Given the description of an element on the screen output the (x, y) to click on. 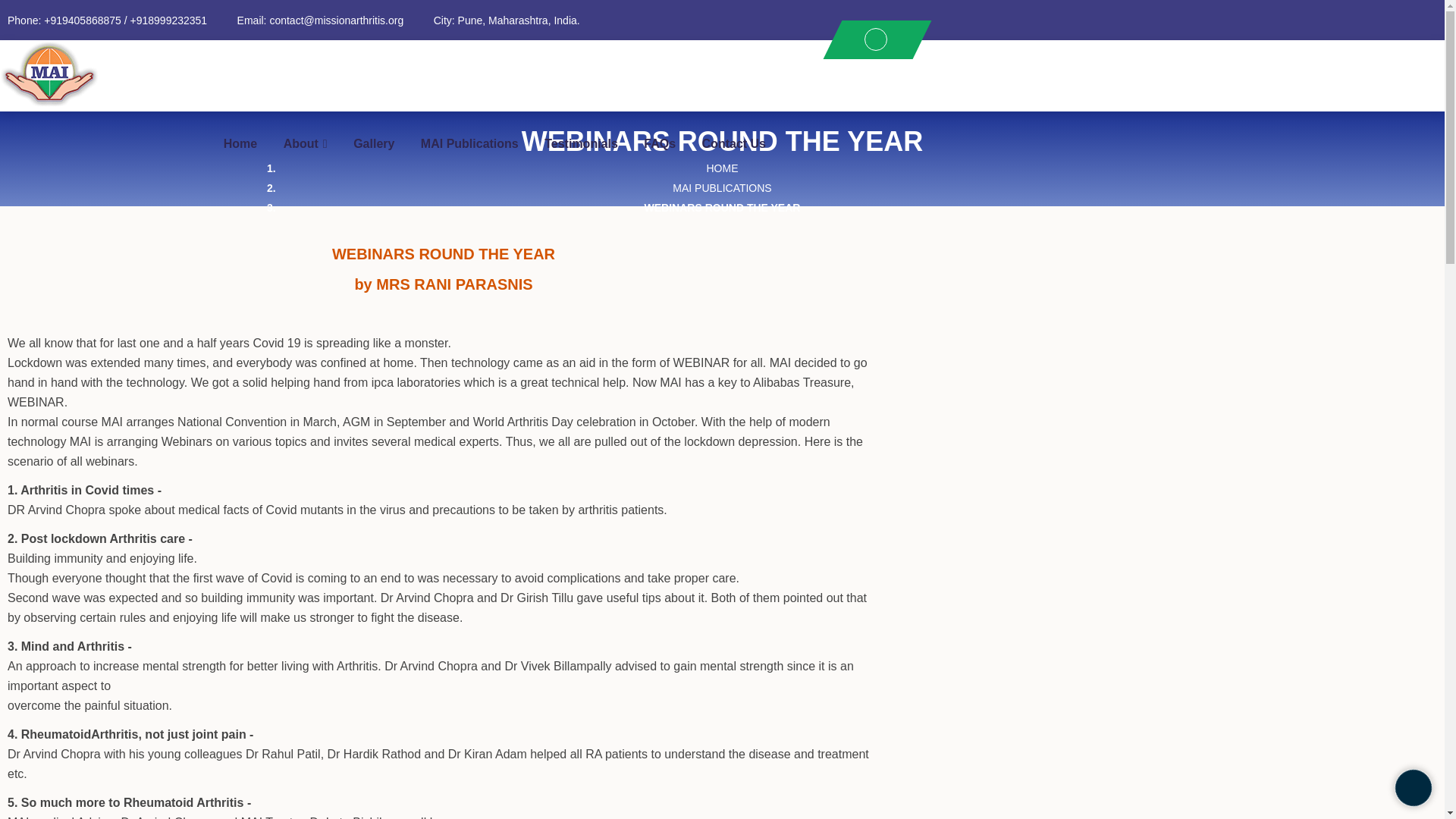
MAI PUBLICATIONS (721, 187)
MAI Publications (469, 143)
Mission Arthritis India (50, 74)
HOME (722, 168)
Contact Us (733, 143)
Testimonials (580, 143)
